Given the description of an element on the screen output the (x, y) to click on. 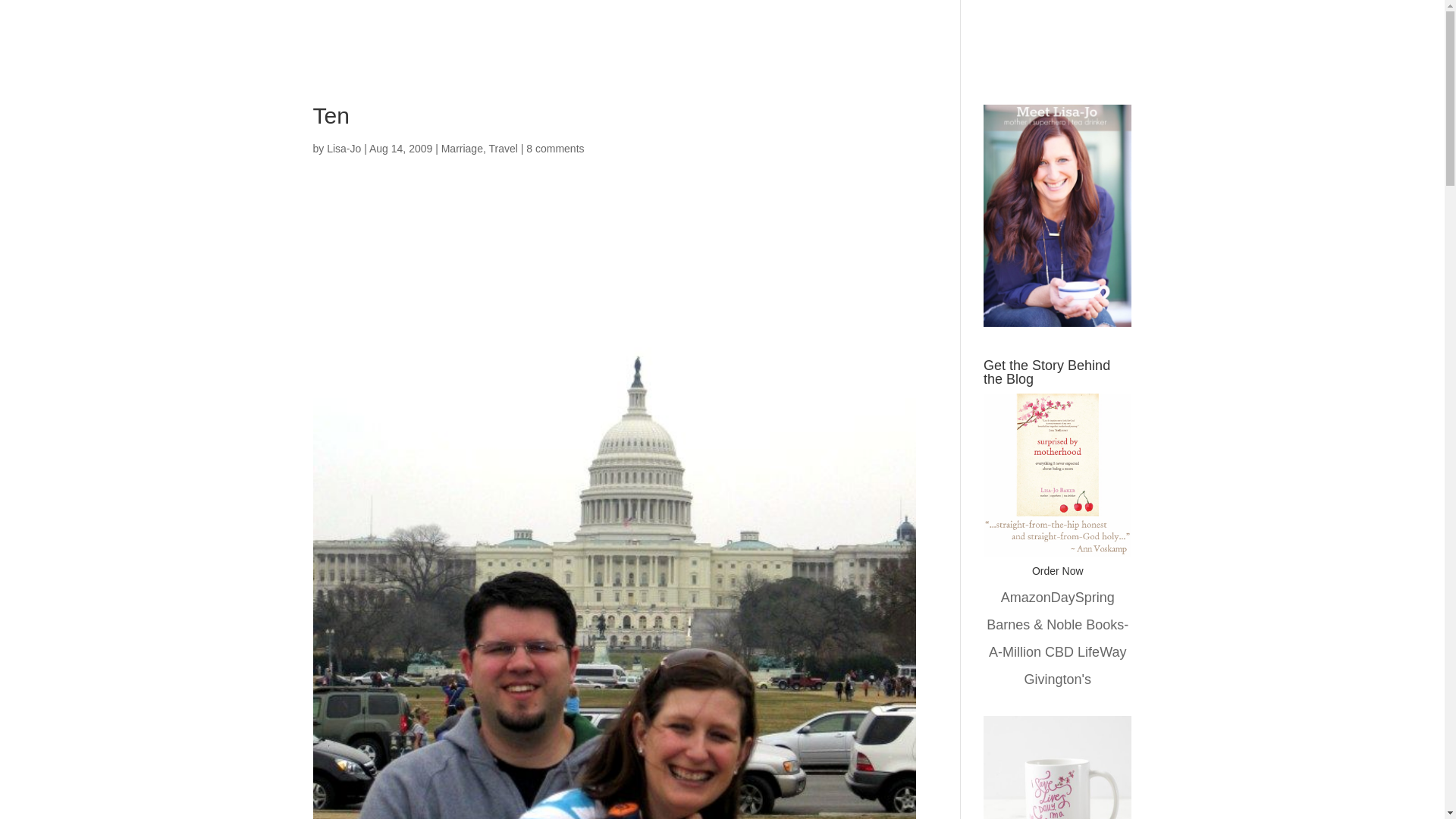
LifeWay (1101, 652)
8 comments (554, 148)
Givington's (1057, 679)
Books-A-Million (1058, 638)
Travel (501, 148)
Lisa-Jo (343, 148)
SPEAKING (1103, 42)
LISA-JO (680, 42)
CBD (1059, 652)
BOOKS (964, 42)
PODCAST (1029, 42)
Posts by Lisa-Jo (343, 148)
DaySpring (1083, 597)
Marriage (462, 148)
Amazon (1026, 597)
